Given the description of an element on the screen output the (x, y) to click on. 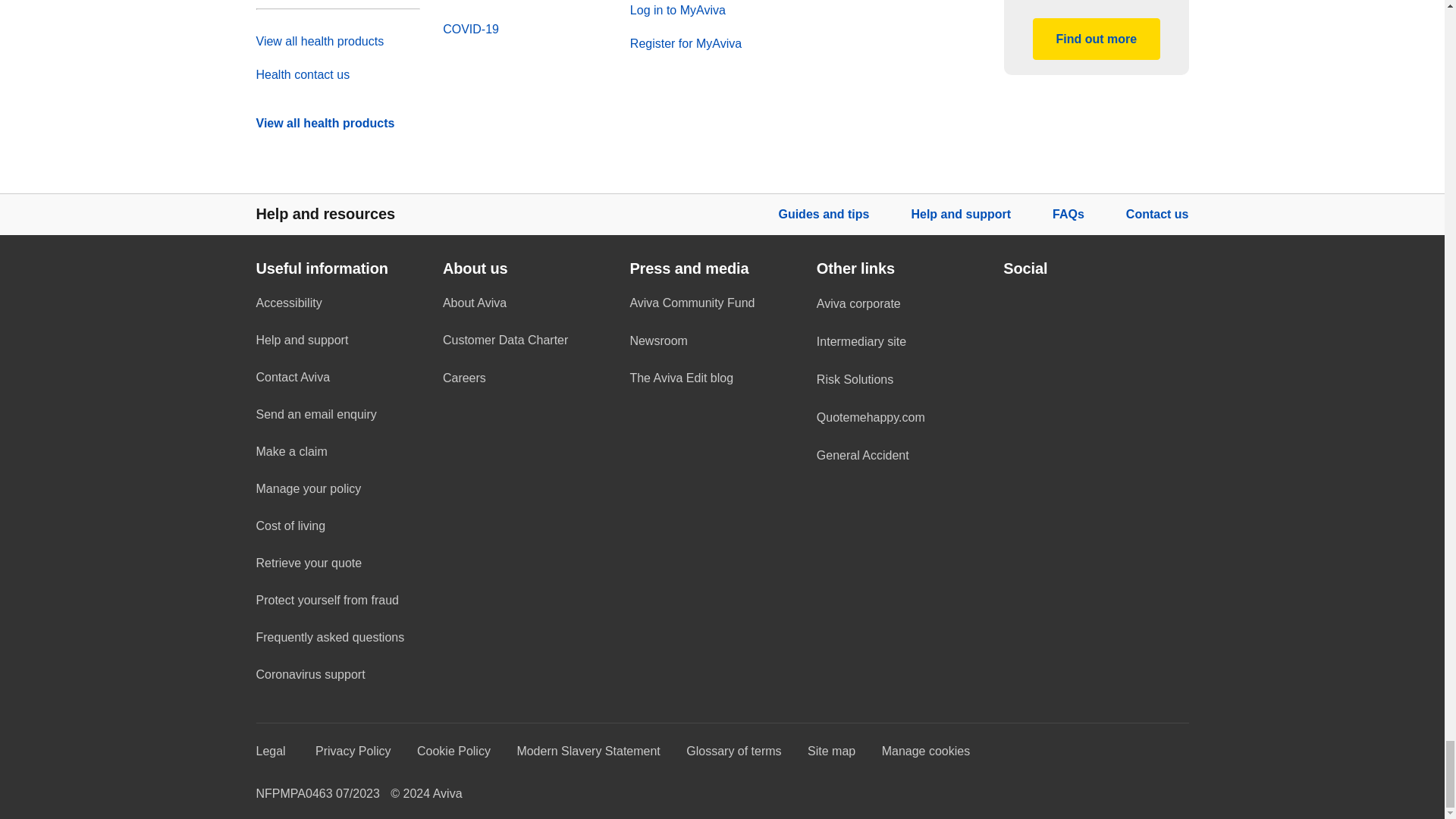
YouTube (1099, 303)
Facebook (1010, 303)
Twitter (1055, 303)
